Given the description of an element on the screen output the (x, y) to click on. 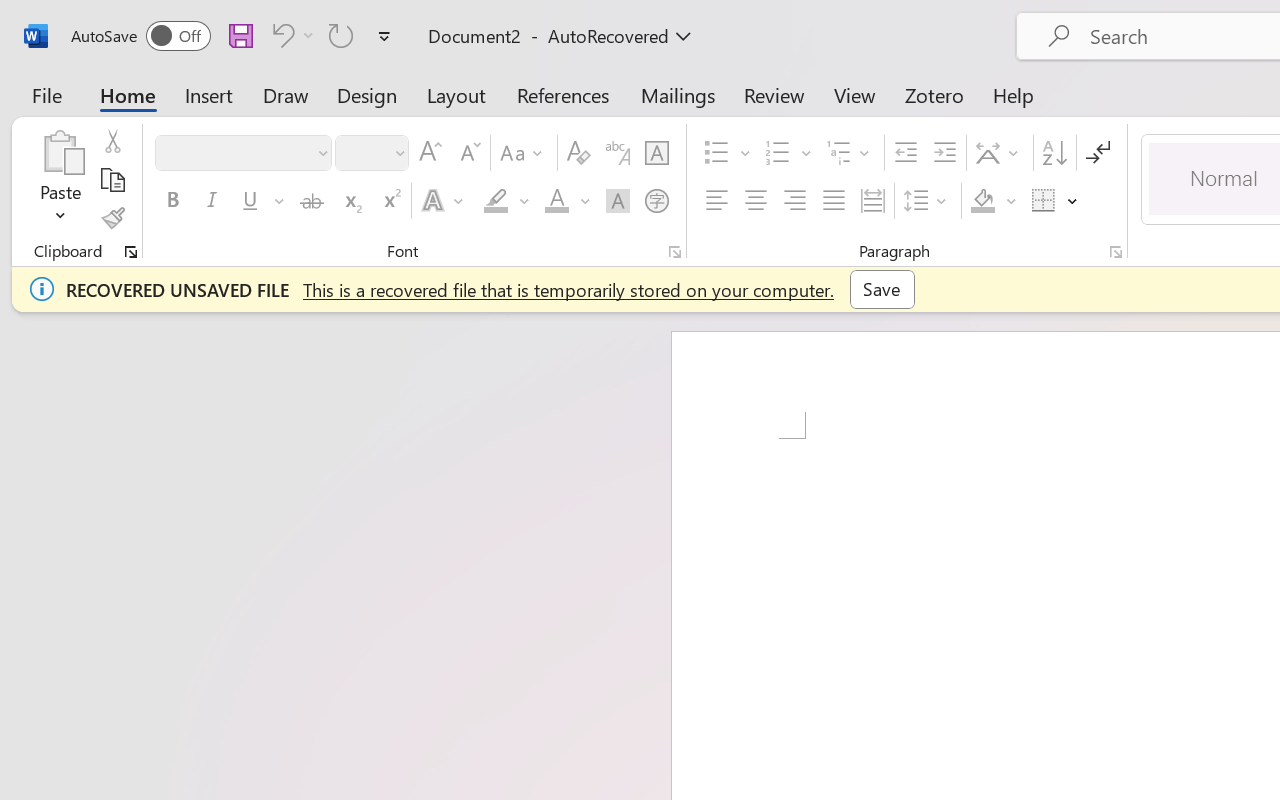
Font... (675, 252)
Text Highlight Color (506, 201)
Justify (834, 201)
Open (399, 152)
Italic (212, 201)
Font Color (567, 201)
Center (756, 201)
